Given the description of an element on the screen output the (x, y) to click on. 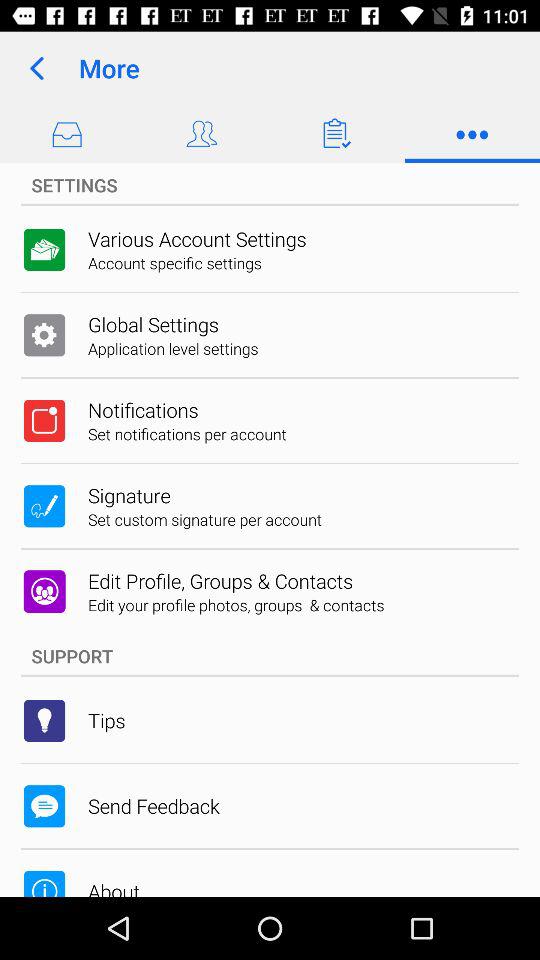
turn on the app below tips item (153, 805)
